Given the description of an element on the screen output the (x, y) to click on. 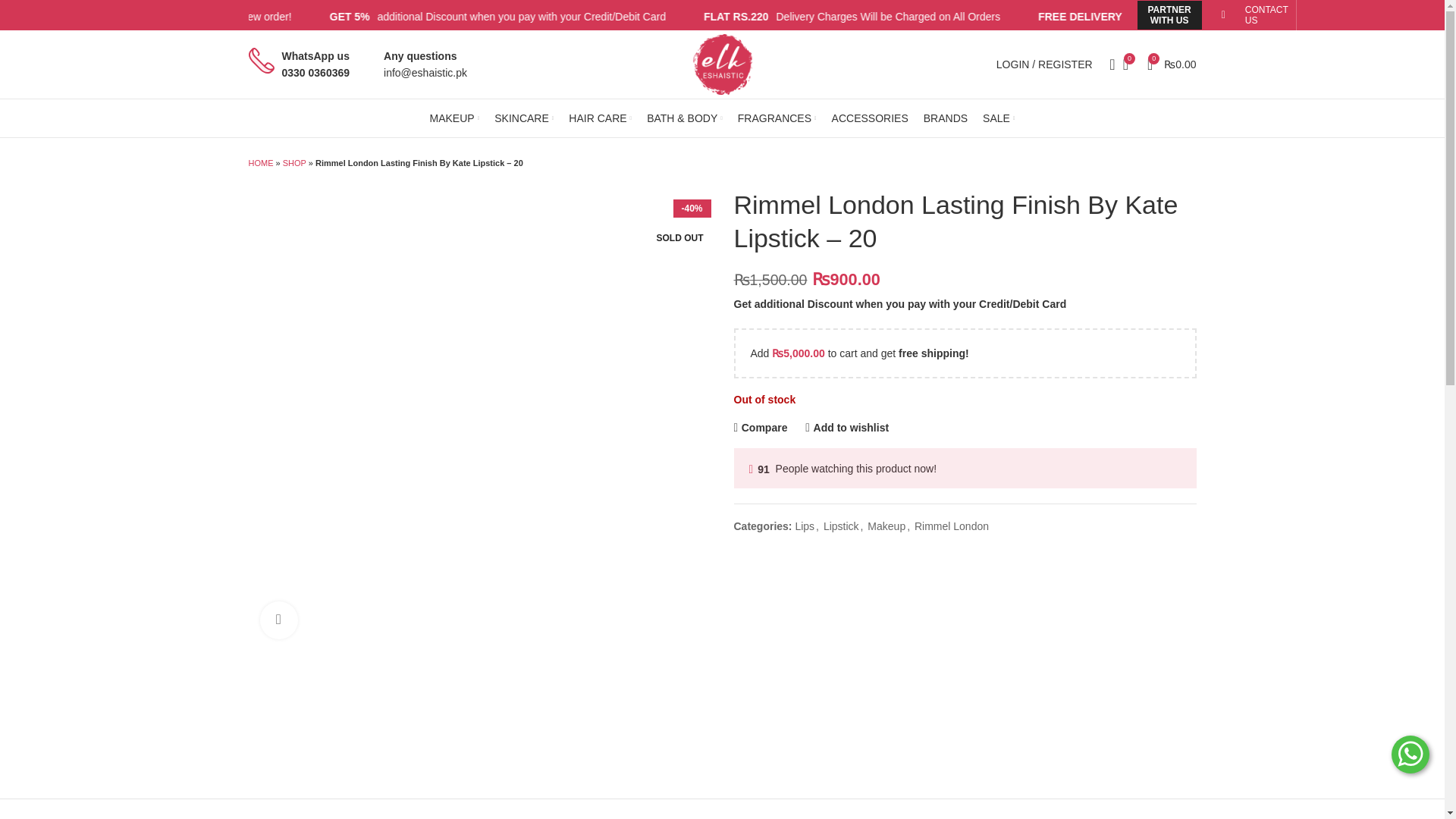
SKINCARE (524, 118)
MAKEUP (454, 118)
ic-call (261, 60)
CONTACT US (1266, 15)
Shopping cart (1172, 64)
FRAGRANCES (777, 118)
My account (1044, 64)
HAIR CARE (600, 118)
PARTNER WITH US (1169, 15)
